Given the description of an element on the screen output the (x, y) to click on. 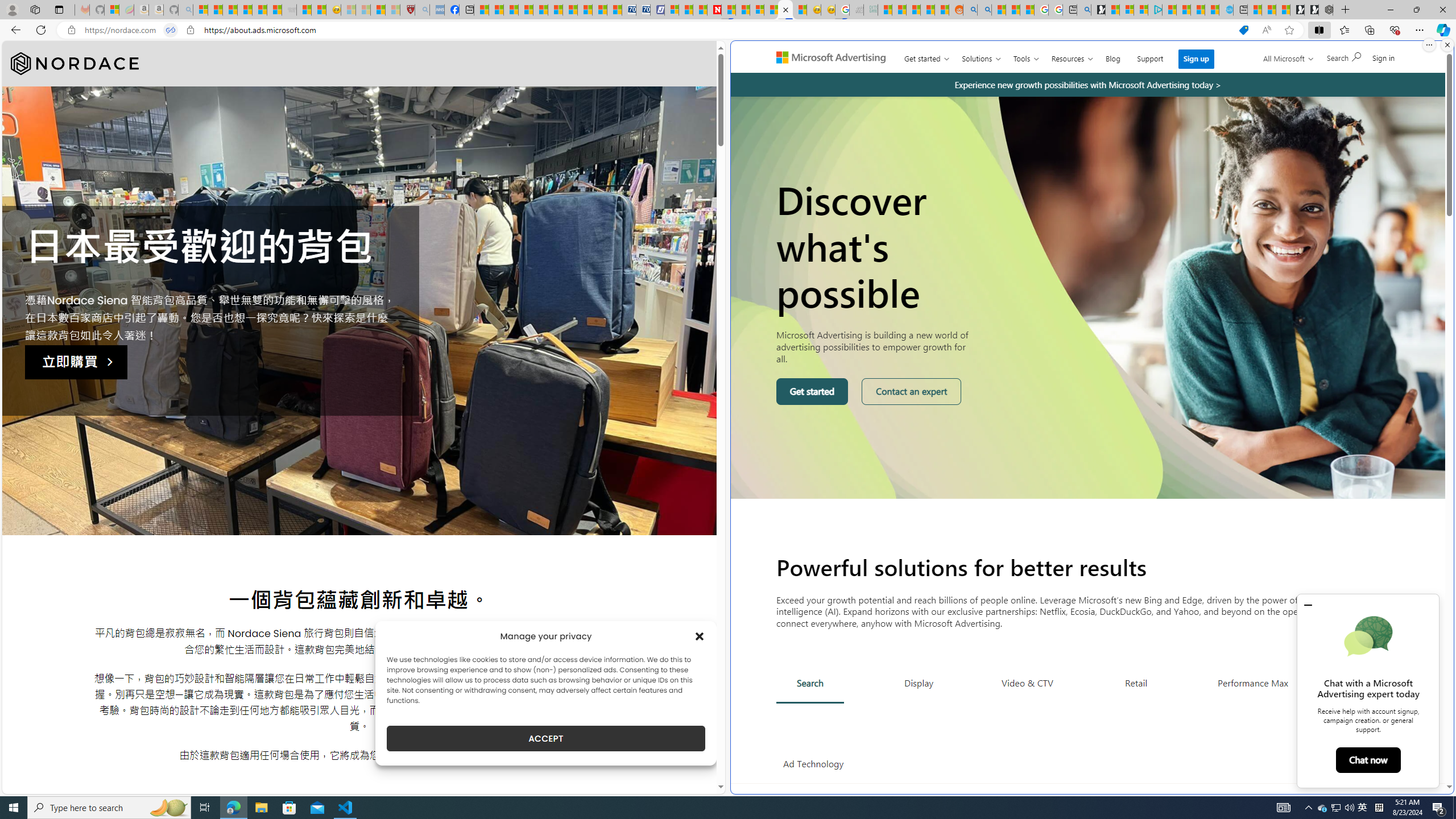
Add this page to favorites (Ctrl+D) (1289, 29)
Address and search bar (658, 29)
Browser essentials (1394, 29)
Personal Profile (12, 9)
Class: cmplz-close (699, 636)
Stocks - MSN (274, 9)
No, thanks (1277, 62)
Microsoft-Report a Concern to Bing (111, 9)
Copilot (Ctrl+Shift+.) (1442, 29)
New Tab (1346, 9)
Newsweek - News, Analysis, Politics, Business, Technology (713, 9)
View site information (190, 29)
